Given the description of an element on the screen output the (x, y) to click on. 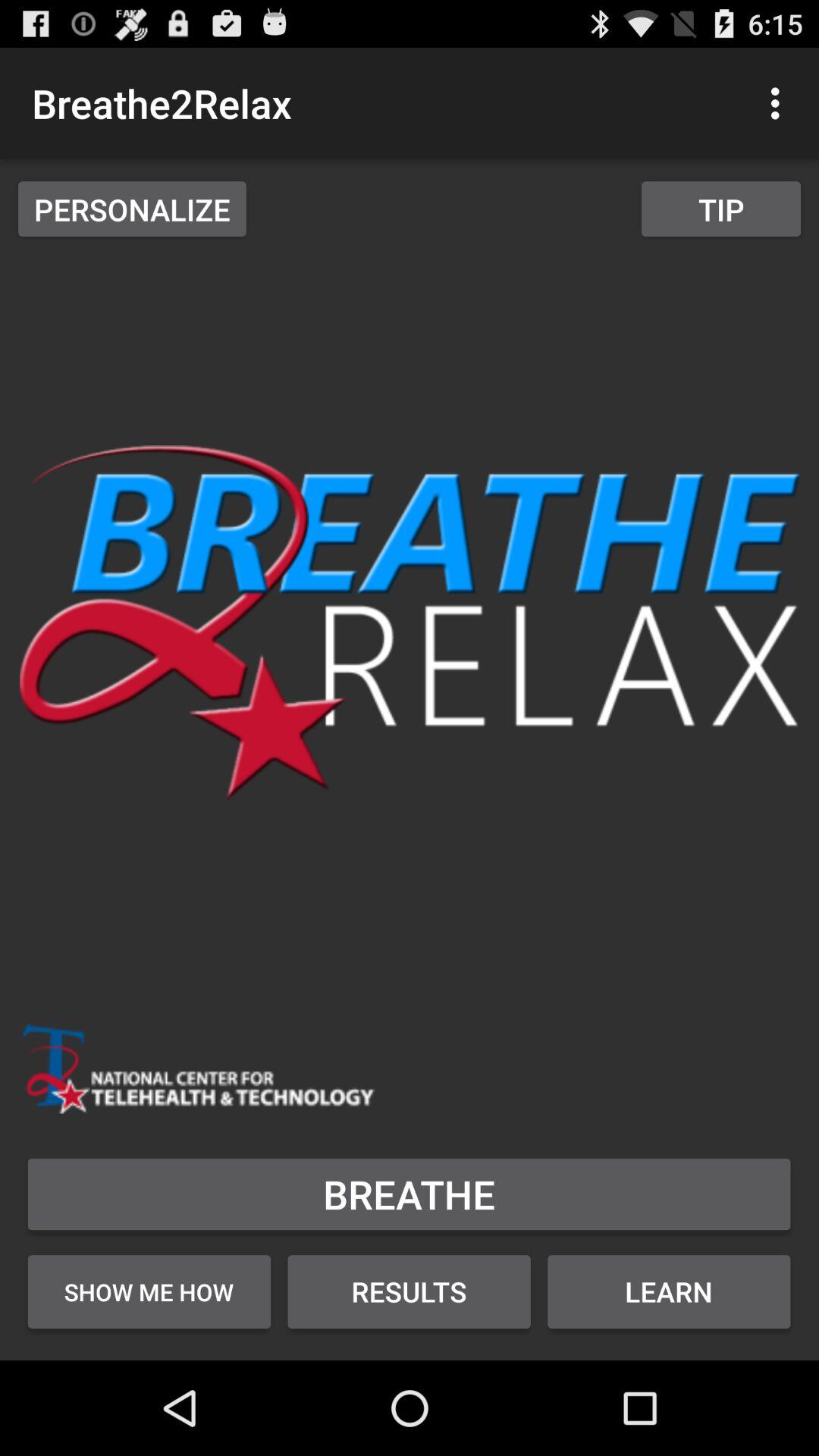
jump to the show me how button (148, 1291)
